Given the description of an element on the screen output the (x, y) to click on. 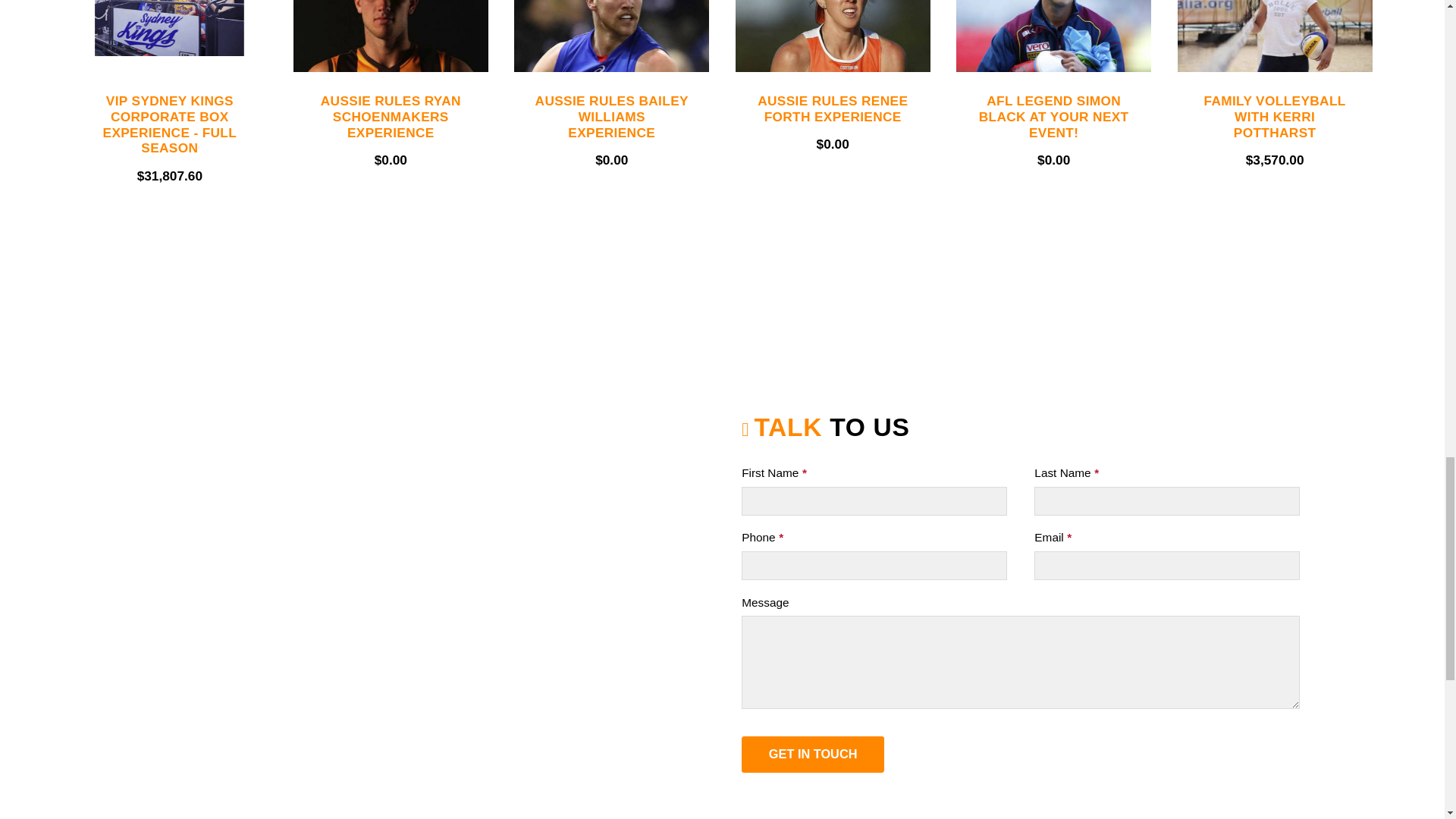
GET IN TOUCH (812, 754)
